Given the description of an element on the screen output the (x, y) to click on. 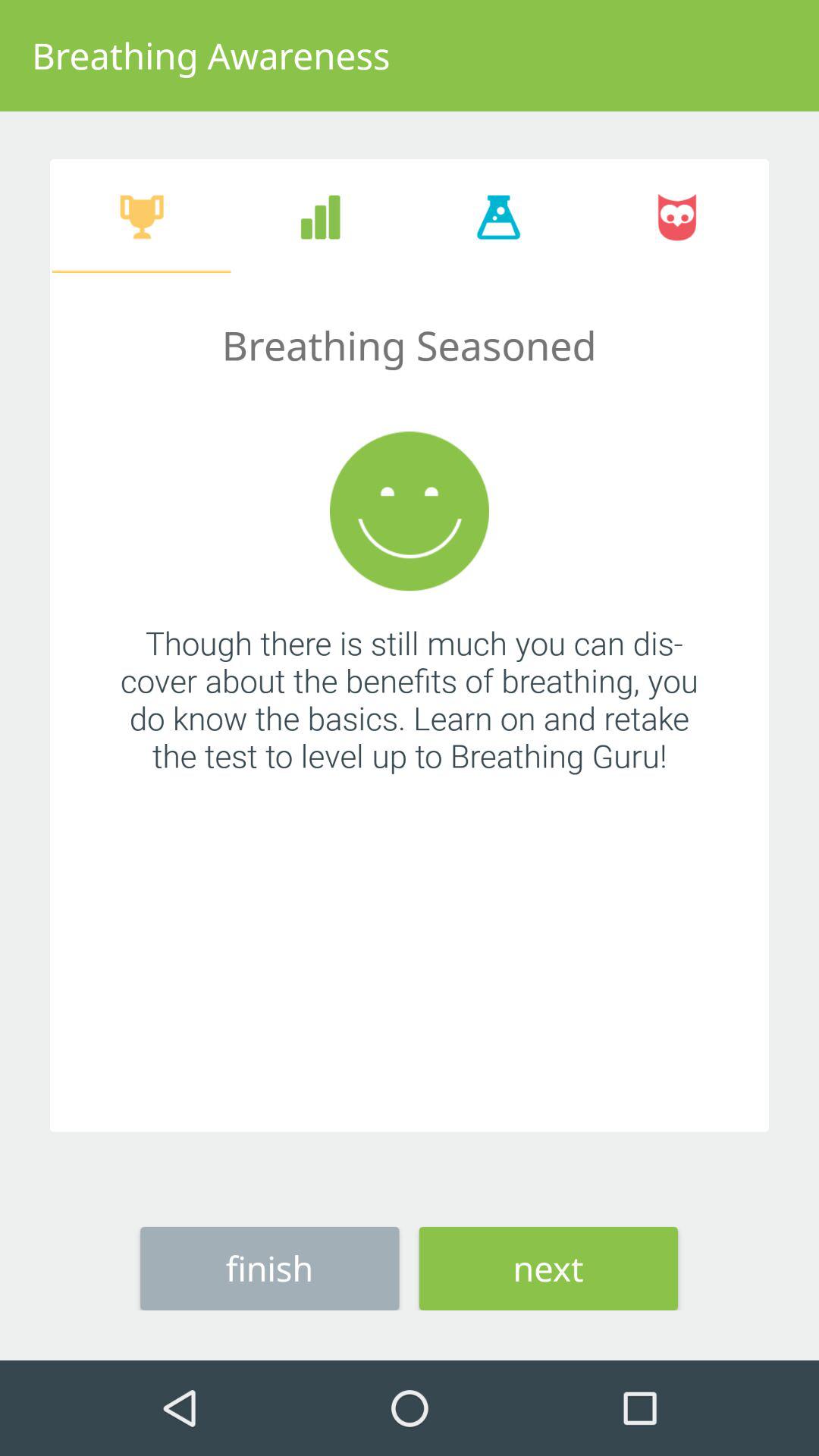
flip to the next (548, 1268)
